Given the description of an element on the screen output the (x, y) to click on. 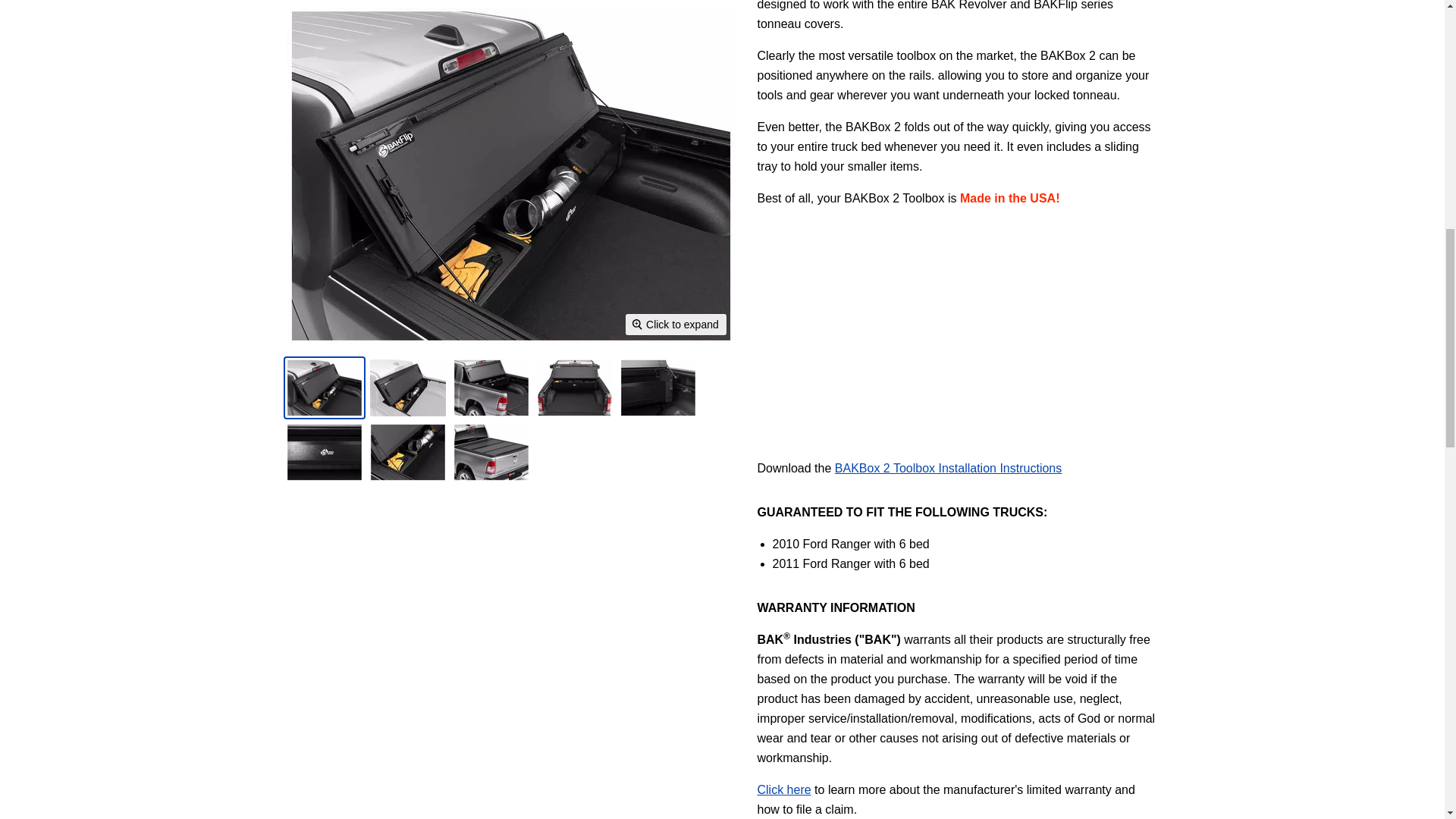
BAKBox 2 Toolbox Installation Instructions (947, 468)
